Given the description of an element on the screen output the (x, y) to click on. 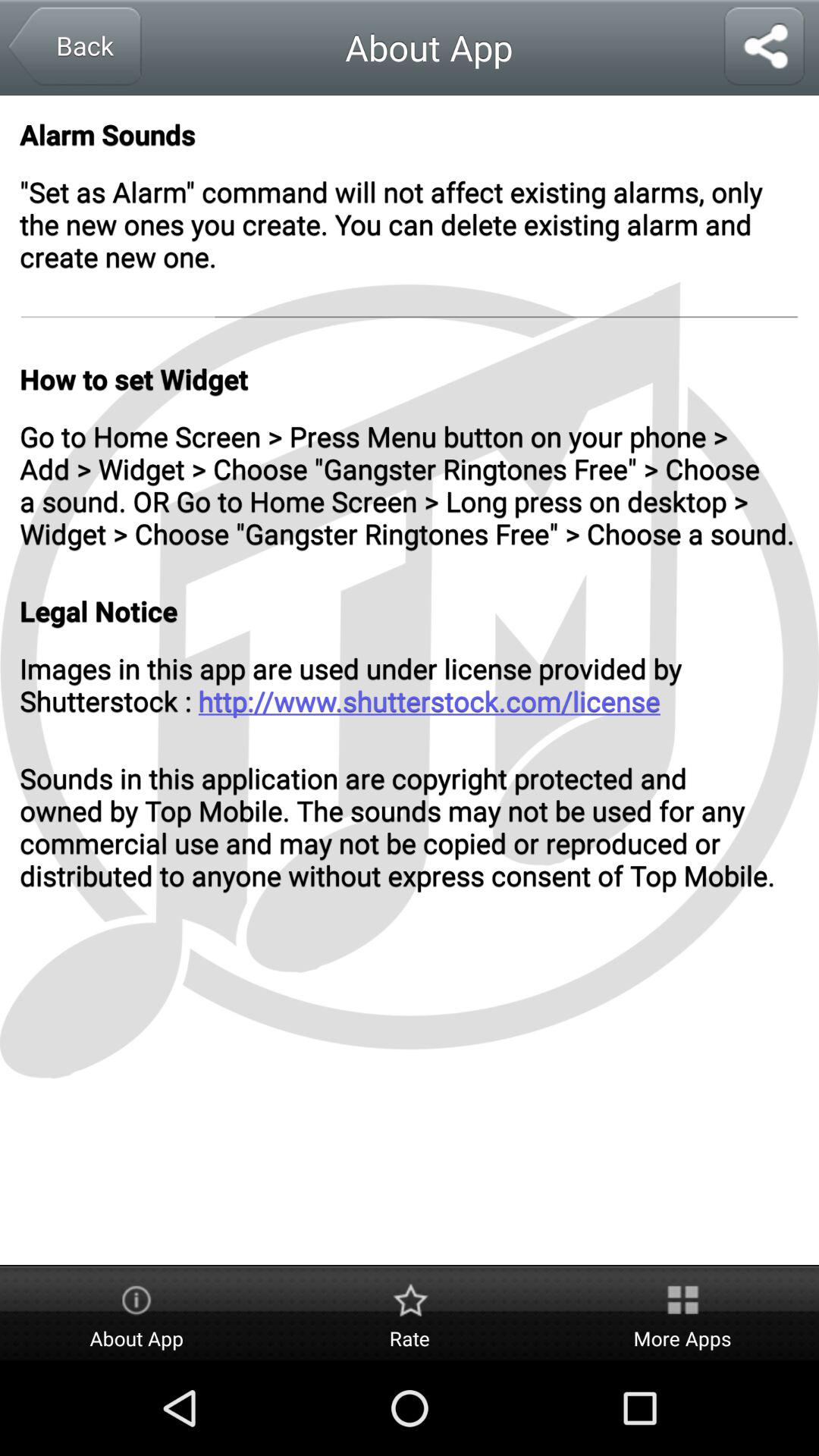
select the text below the legal notice (409, 684)
select the text below the legal notice (409, 684)
select back button (73, 47)
select rate and its icon (409, 1313)
